Given the description of an element on the screen output the (x, y) to click on. 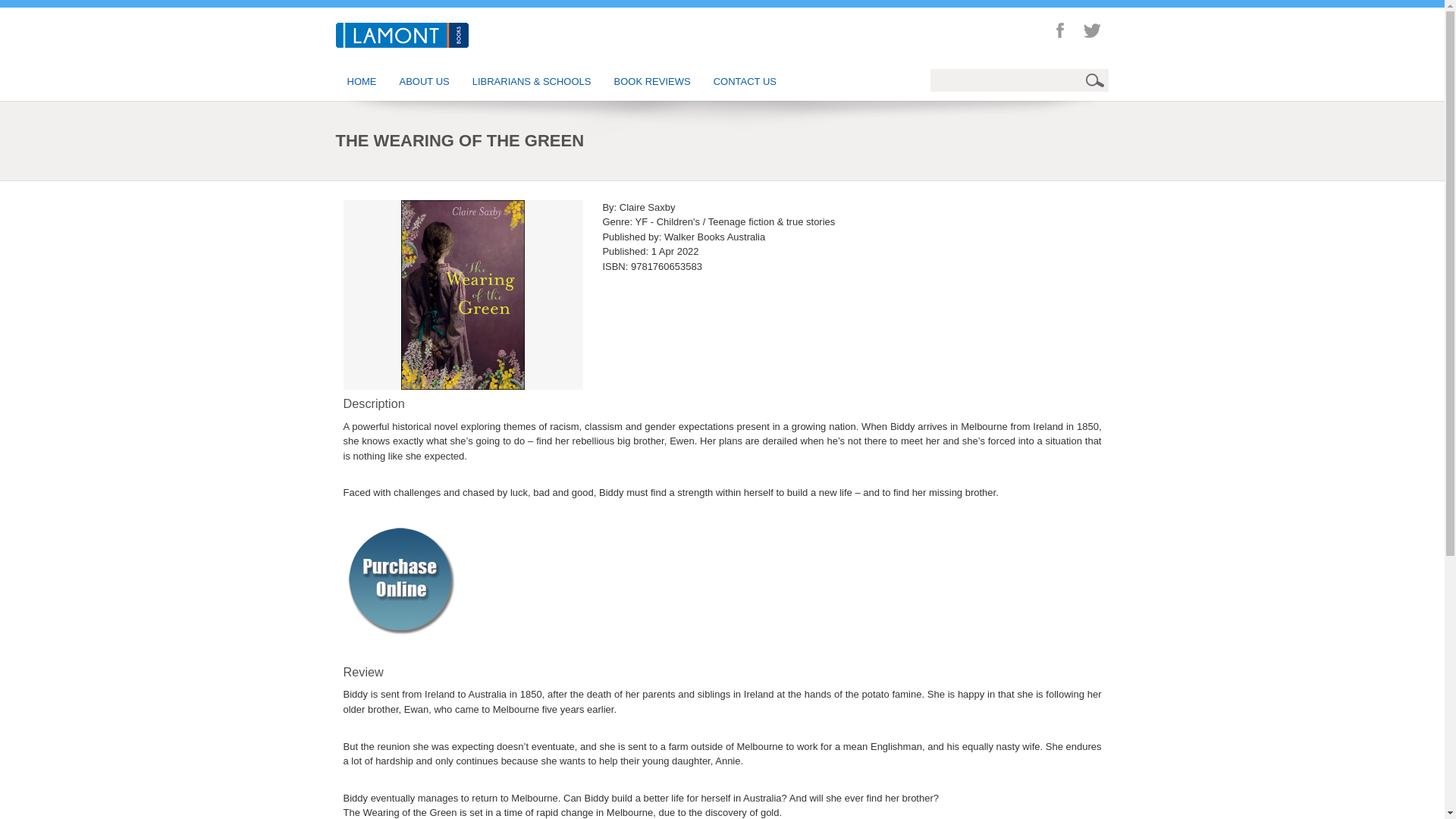
HOME (360, 81)
Click to Purchase Online (399, 577)
Purchase Online (399, 578)
Search (1097, 79)
ABOUT US (424, 81)
